Given the description of an element on the screen output the (x, y) to click on. 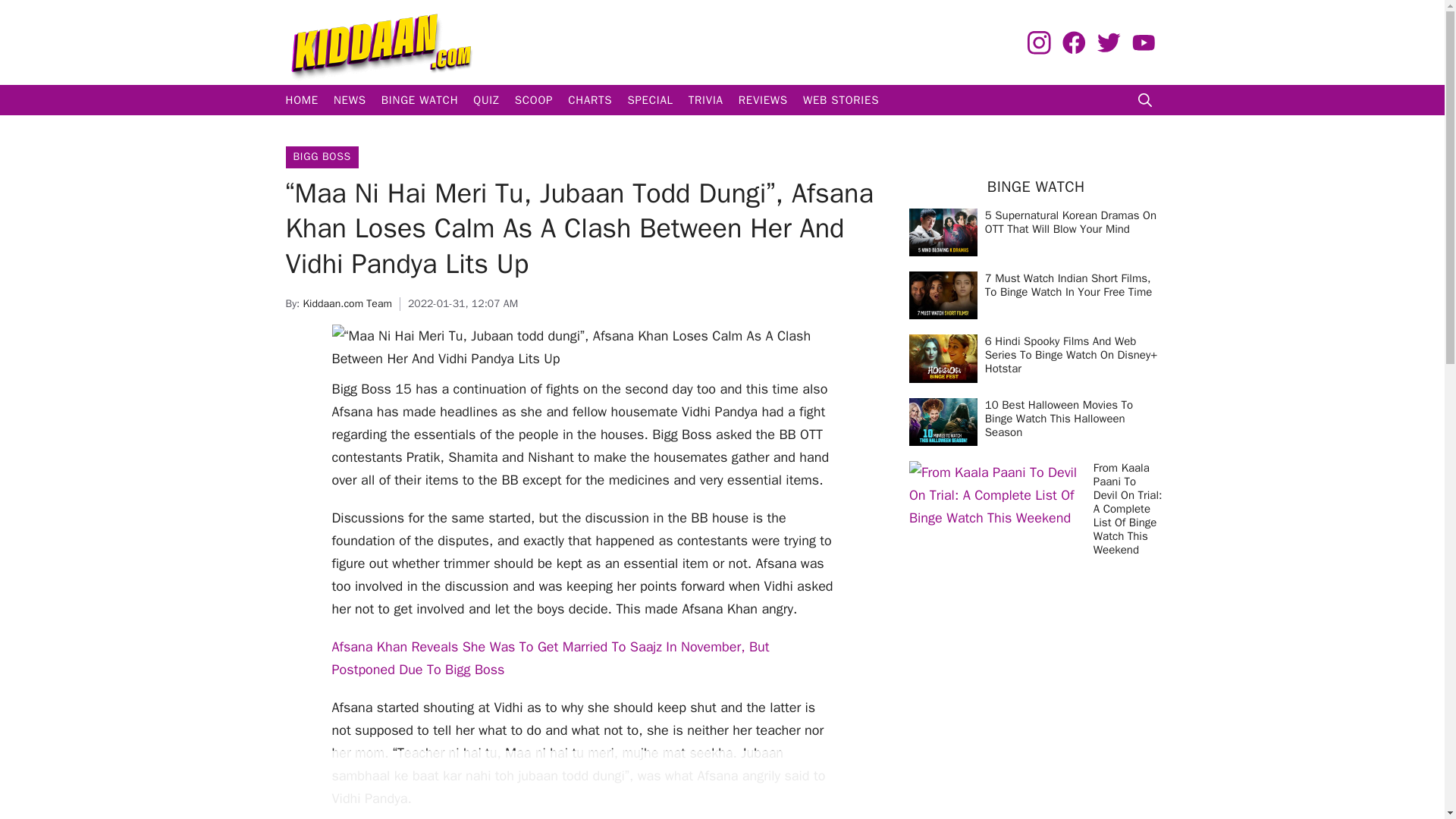
CHARTS (590, 100)
BIGG BOSS (321, 155)
WEB STORIES (840, 100)
Kiddaan.com Team (346, 303)
REVIEWS (762, 100)
QUIZ (485, 100)
NEWS (350, 100)
BINGE WATCH (419, 100)
SPECIAL (649, 100)
TRIVIA (705, 100)
